Given the description of an element on the screen output the (x, y) to click on. 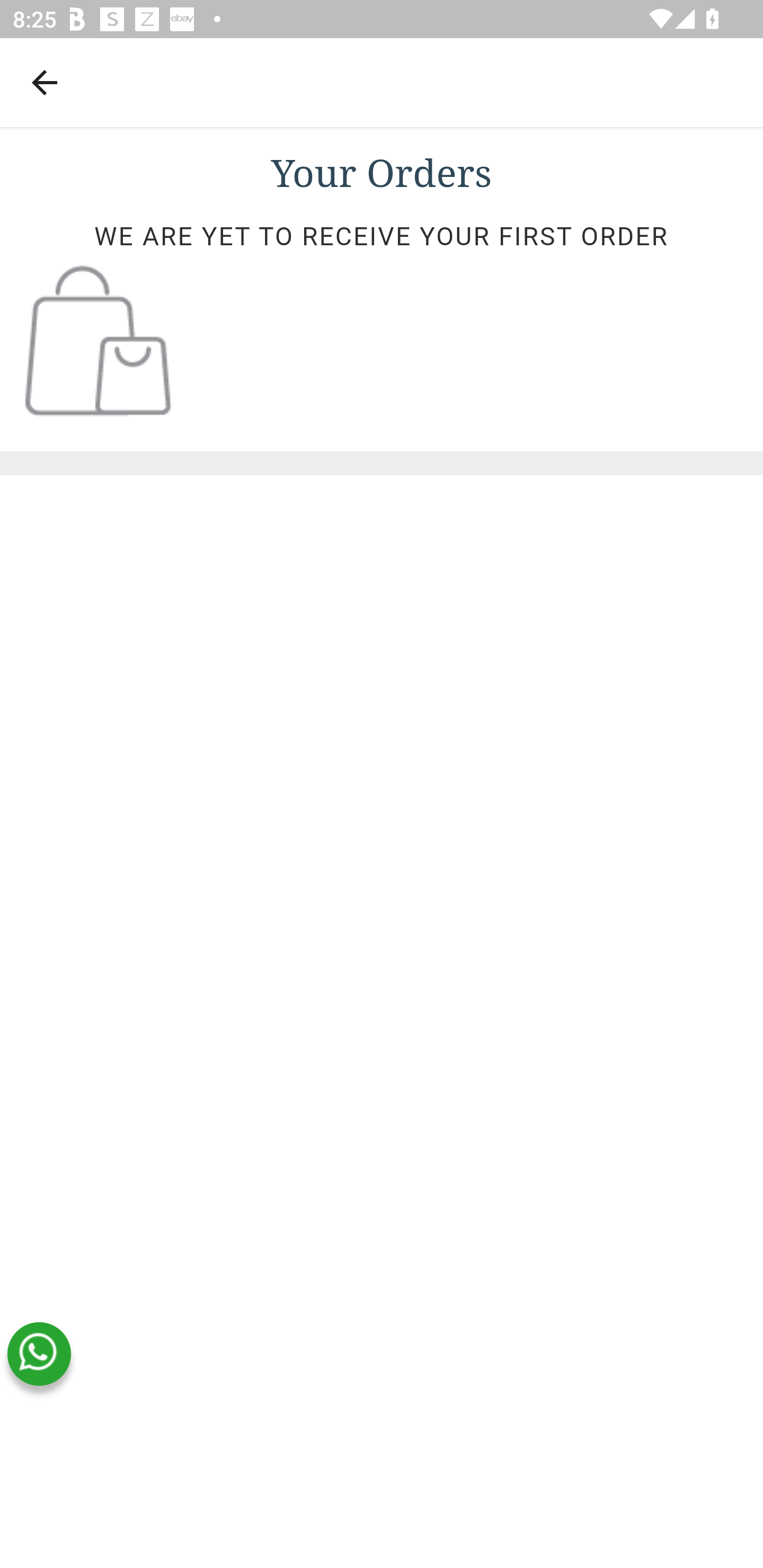
Navigate up (44, 82)
whatsapp (38, 1353)
